Given the description of an element on the screen output the (x, y) to click on. 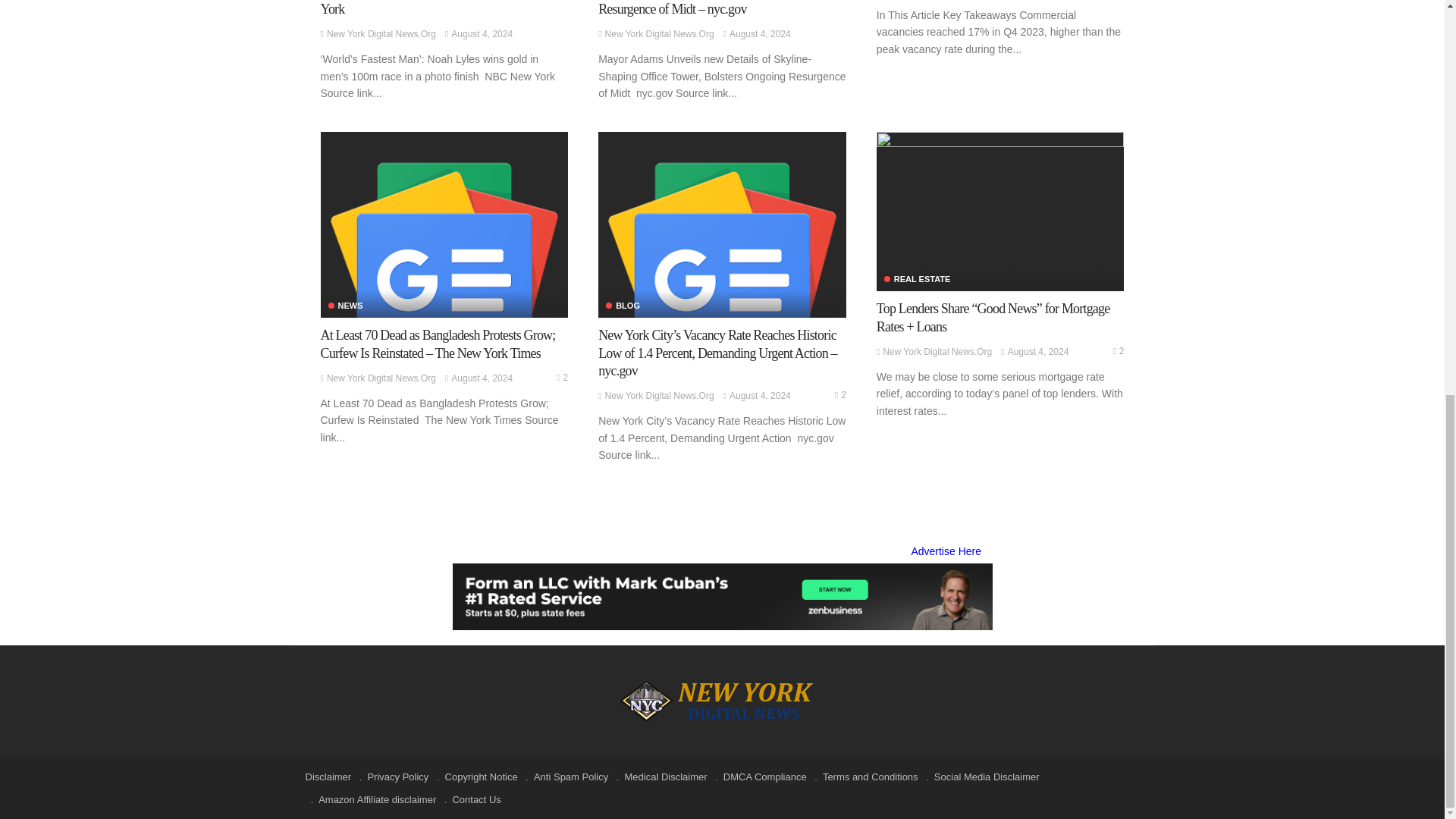
News (344, 306)
